Given the description of an element on the screen output the (x, y) to click on. 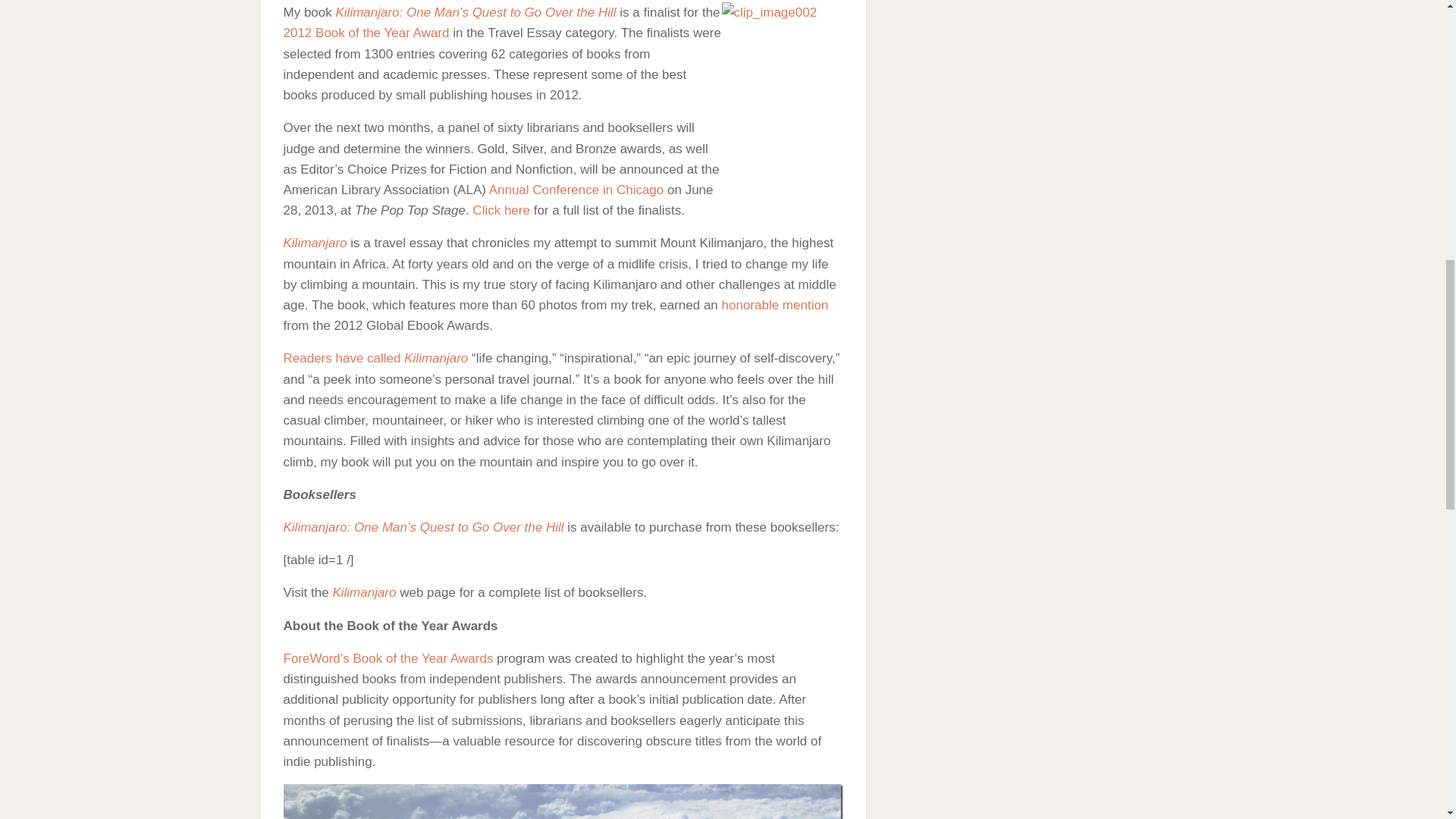
Kilimanjaro (315, 242)
honorable mention (775, 305)
Annual Conference in Chicago (576, 189)
Click here (500, 210)
Readers have called Kilimanjaro (375, 358)
2012 Book of the Year Award (366, 32)
